Given the description of an element on the screen output the (x, y) to click on. 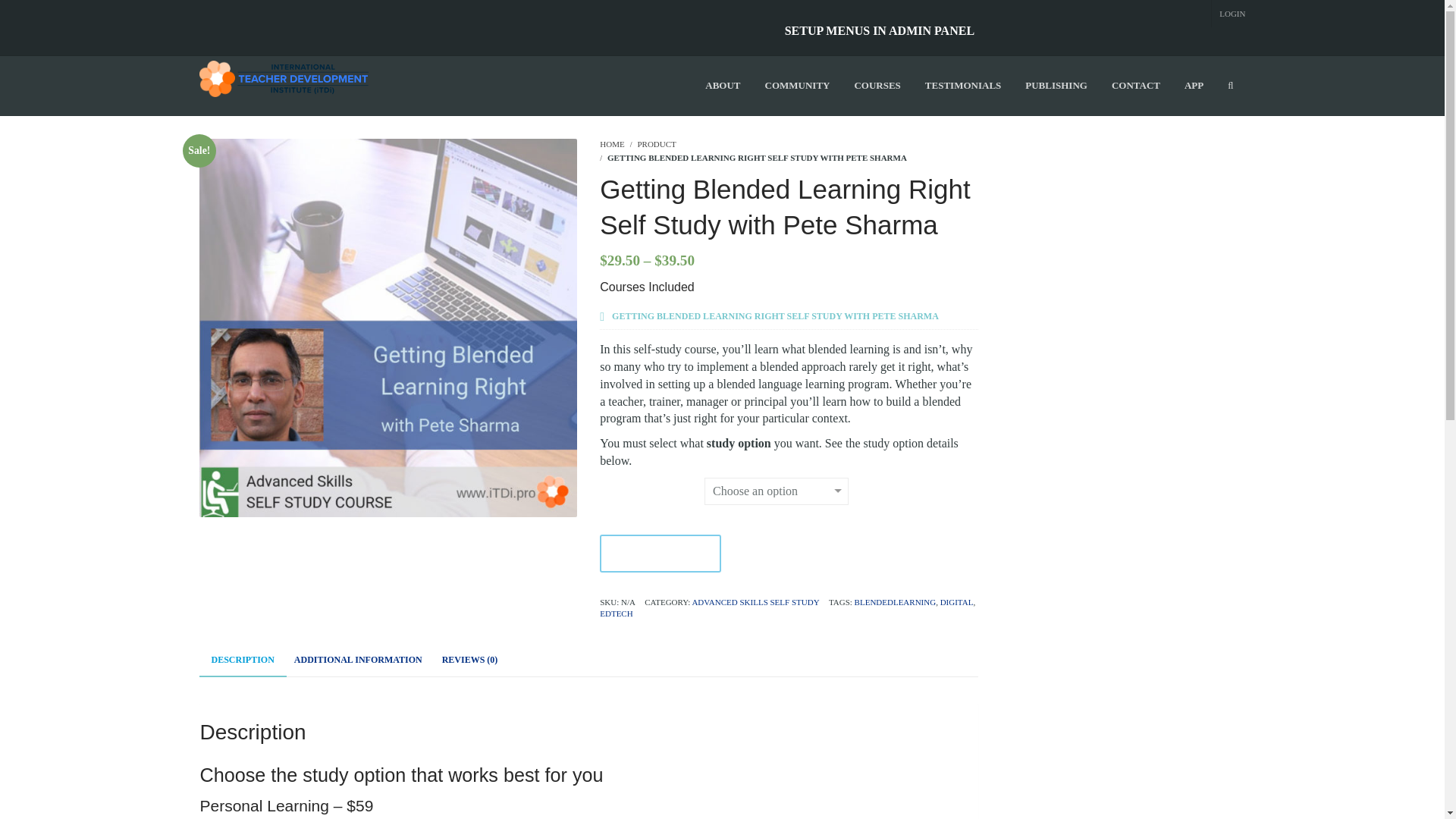
LOGIN (1232, 13)
